Given the description of an element on the screen output the (x, y) to click on. 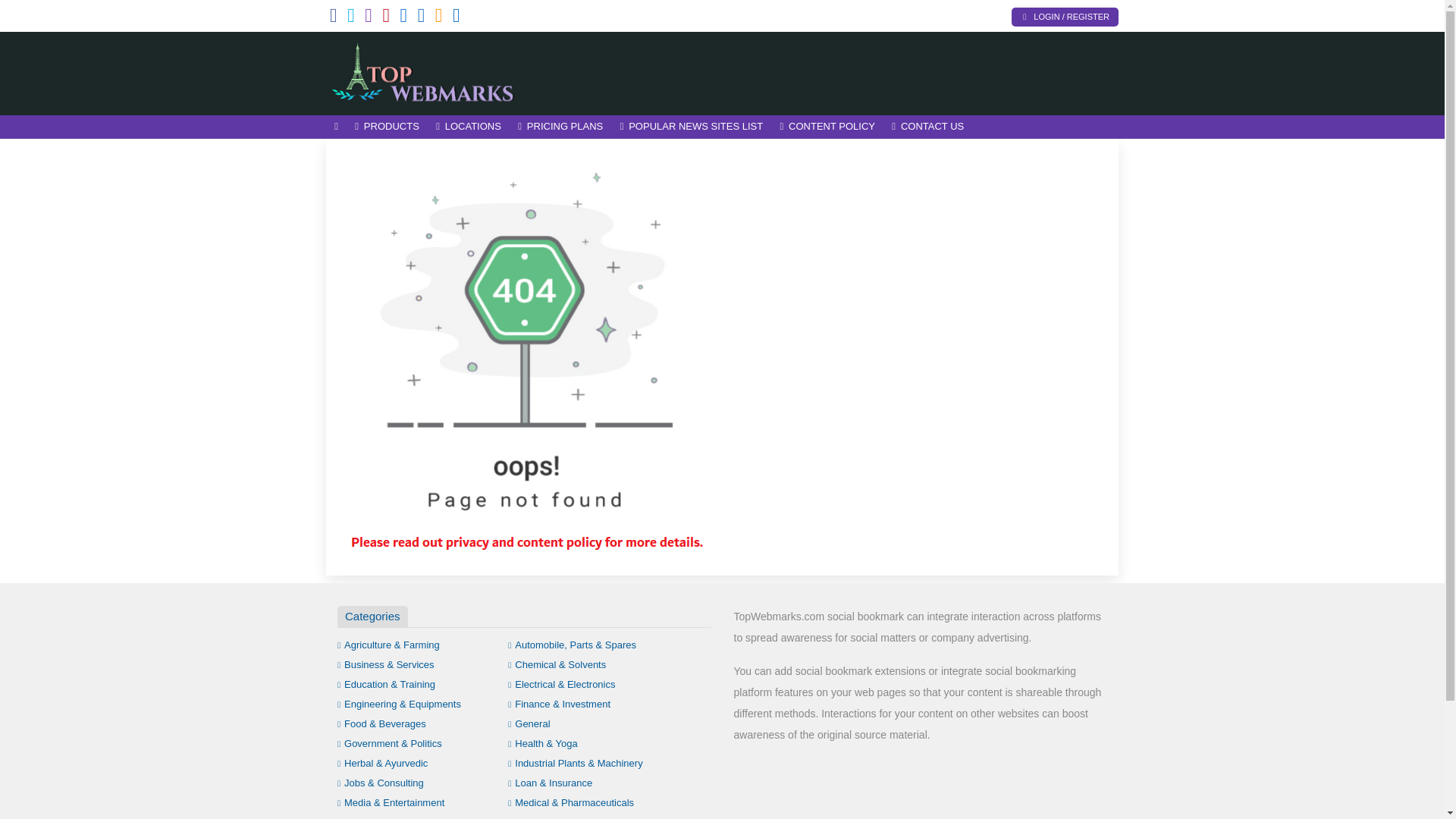
CONTACT US (927, 126)
PRODUCTS (387, 126)
CONTENT POLICY (827, 126)
LOCATIONS (468, 126)
POPULAR NEWS SITES LIST (691, 126)
General (529, 723)
PRICING PLANS (560, 126)
